Given the description of an element on the screen output the (x, y) to click on. 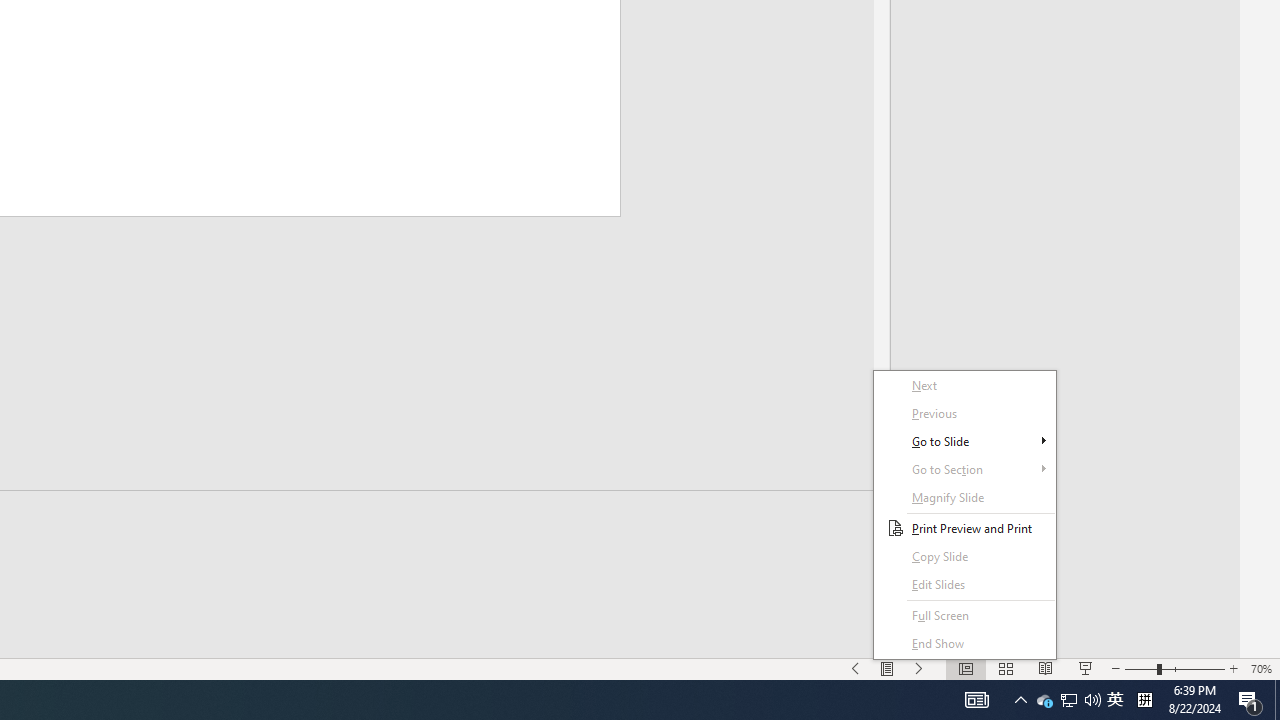
Print Preview and Print (964, 528)
End Show (964, 644)
Context Menu (964, 515)
